Given the description of an element on the screen output the (x, y) to click on. 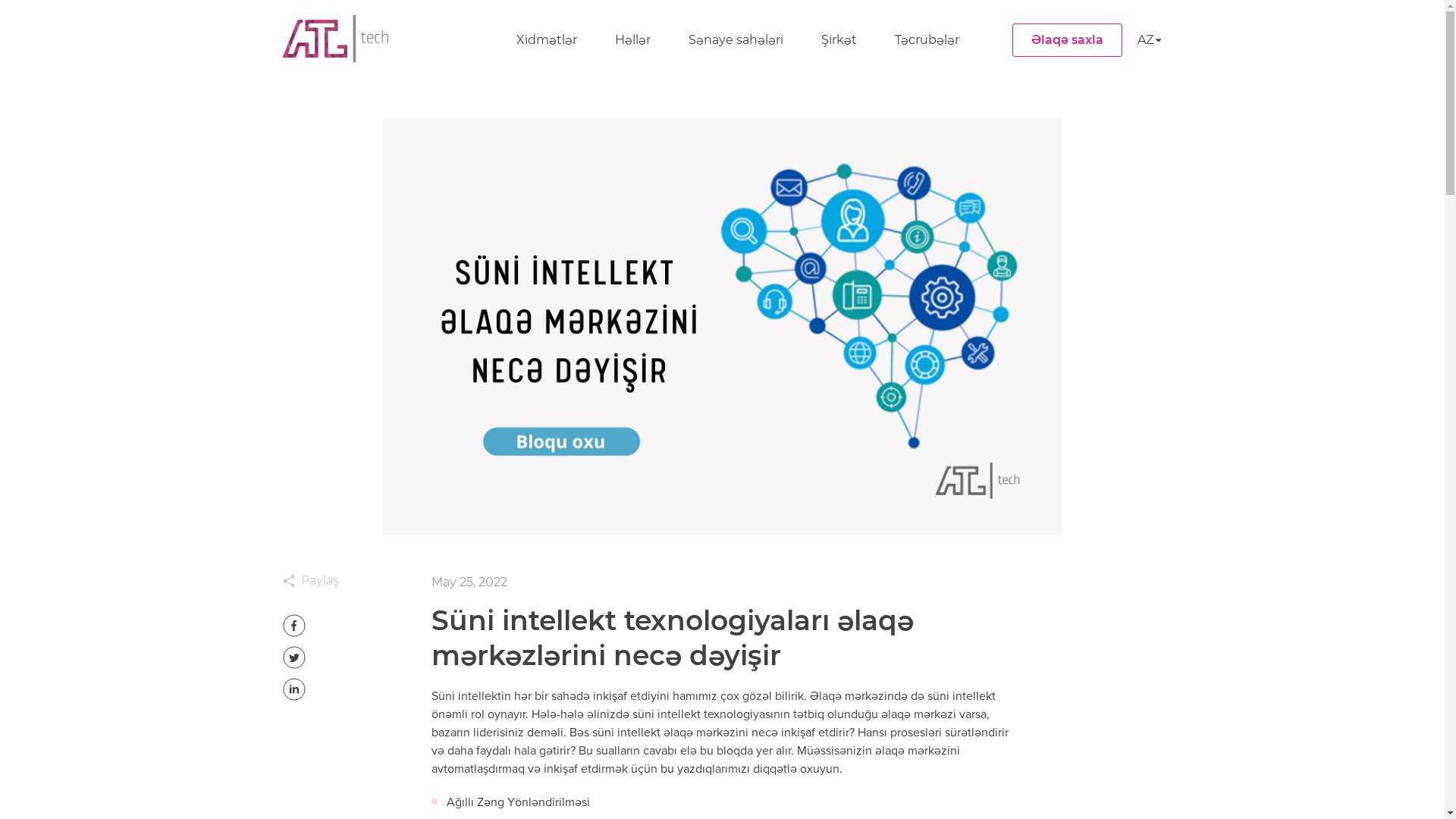
AZ Element type: text (1149, 39)
